Given the description of an element on the screen output the (x, y) to click on. 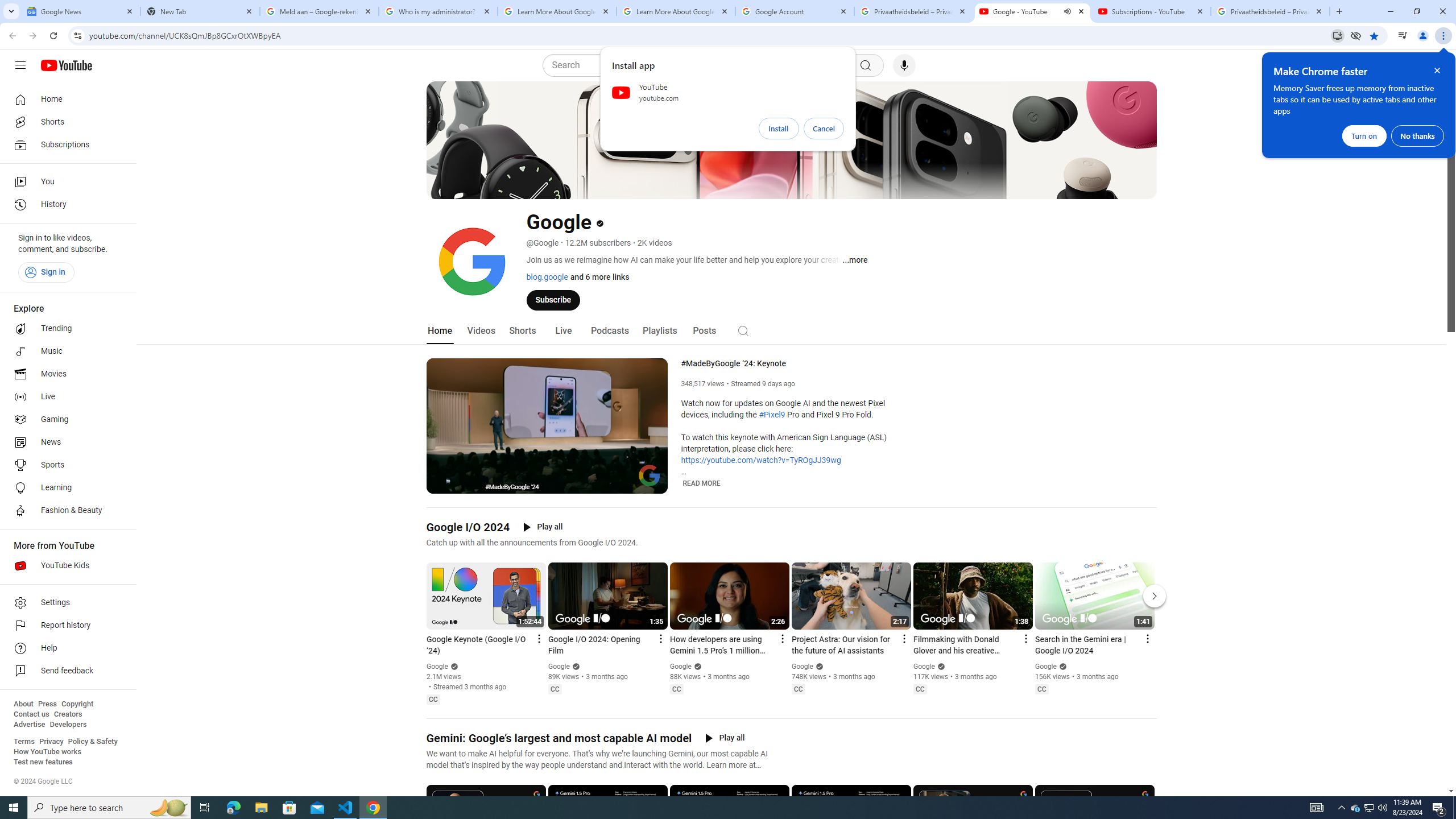
Turn on (1364, 135)
READ MORE (701, 483)
#Pixel9 (771, 414)
Fashion & Beauty (64, 510)
Who is my administrator? - Google Account Help (438, 11)
Install YouTube (1336, 35)
READ MORE (701, 482)
Report history (64, 625)
Press (46, 703)
Channel watermark (649, 475)
